Given the description of an element on the screen output the (x, y) to click on. 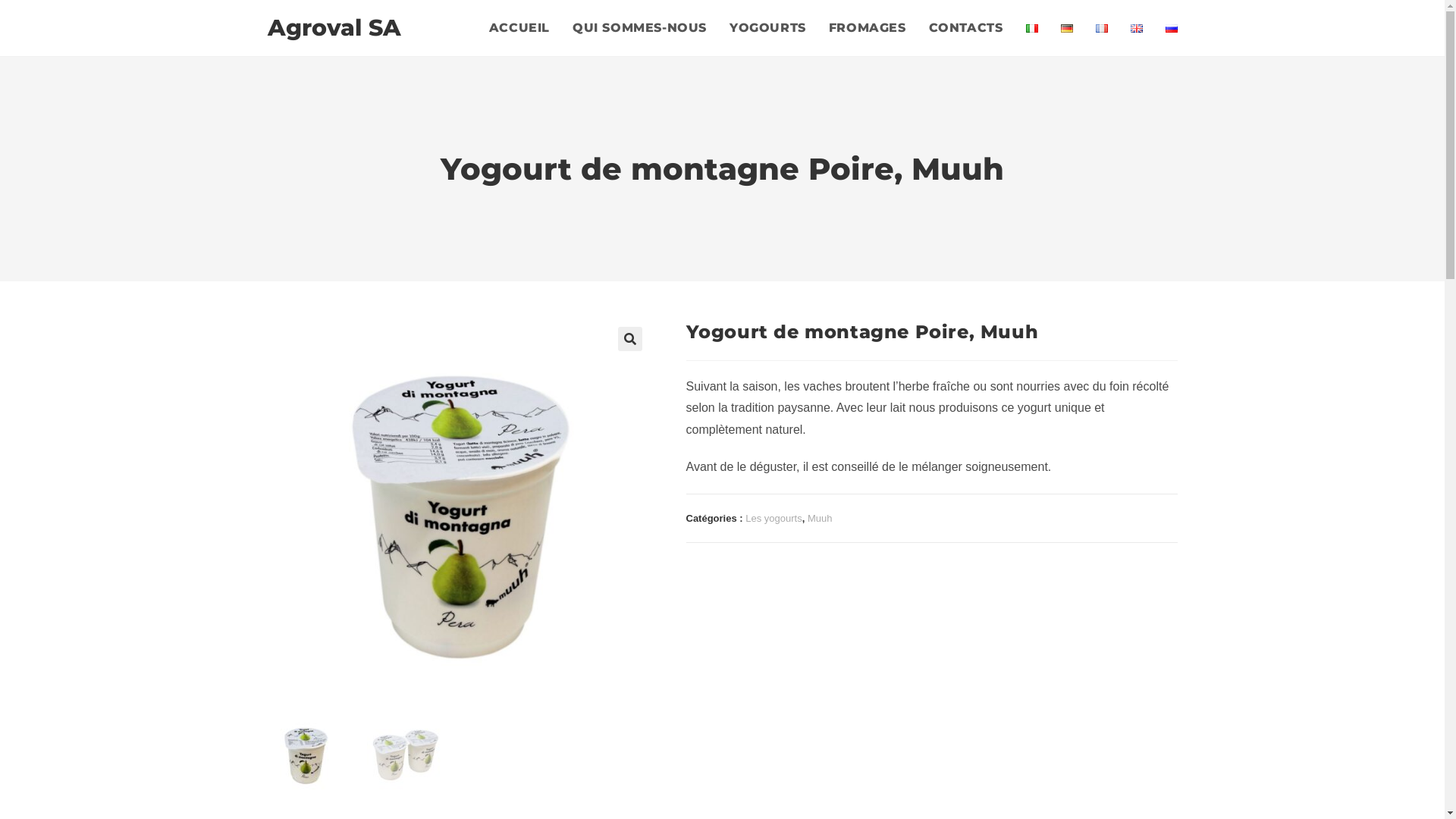
YogurtDiMontagnaPera180gMuuhAgroval Element type: hover (457, 510)
QUI SOMMES-NOUS Element type: text (639, 28)
Agroval SA Element type: text (333, 27)
Muuh Element type: text (819, 518)
CONTACTS Element type: text (965, 28)
FROMAGES Element type: text (867, 28)
ACCUEIL Element type: text (519, 28)
Les yogourts Element type: text (773, 518)
YOGOURTS Element type: text (767, 28)
